Given the description of an element on the screen output the (x, y) to click on. 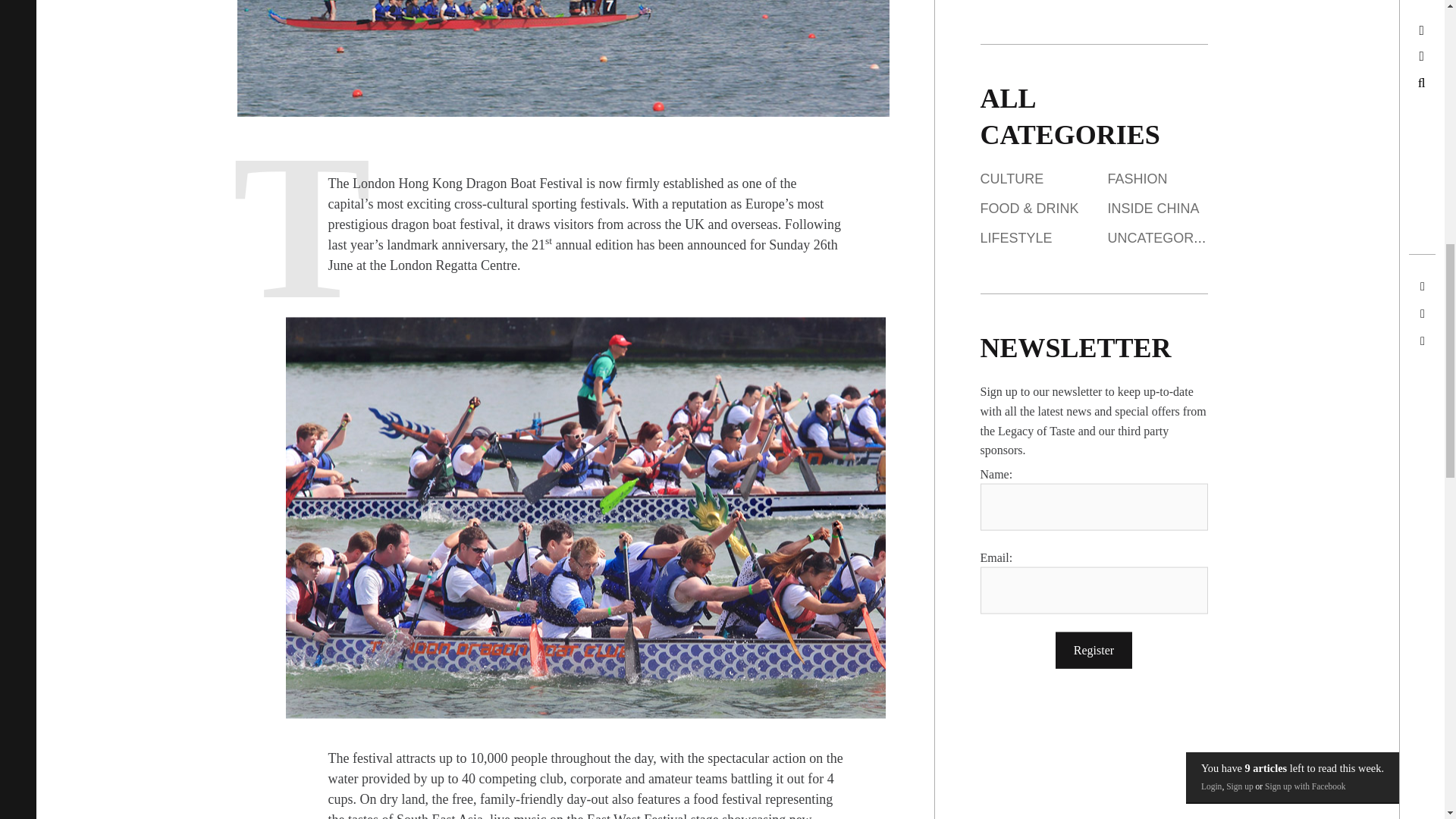
UNCATEGORIZED (1165, 237)
FASHION (1136, 178)
Register (1093, 649)
CULTURE (1011, 178)
INSIDE CHINA (1152, 208)
LIFESTYLE (1015, 237)
Register (1093, 649)
